Given the description of an element on the screen output the (x, y) to click on. 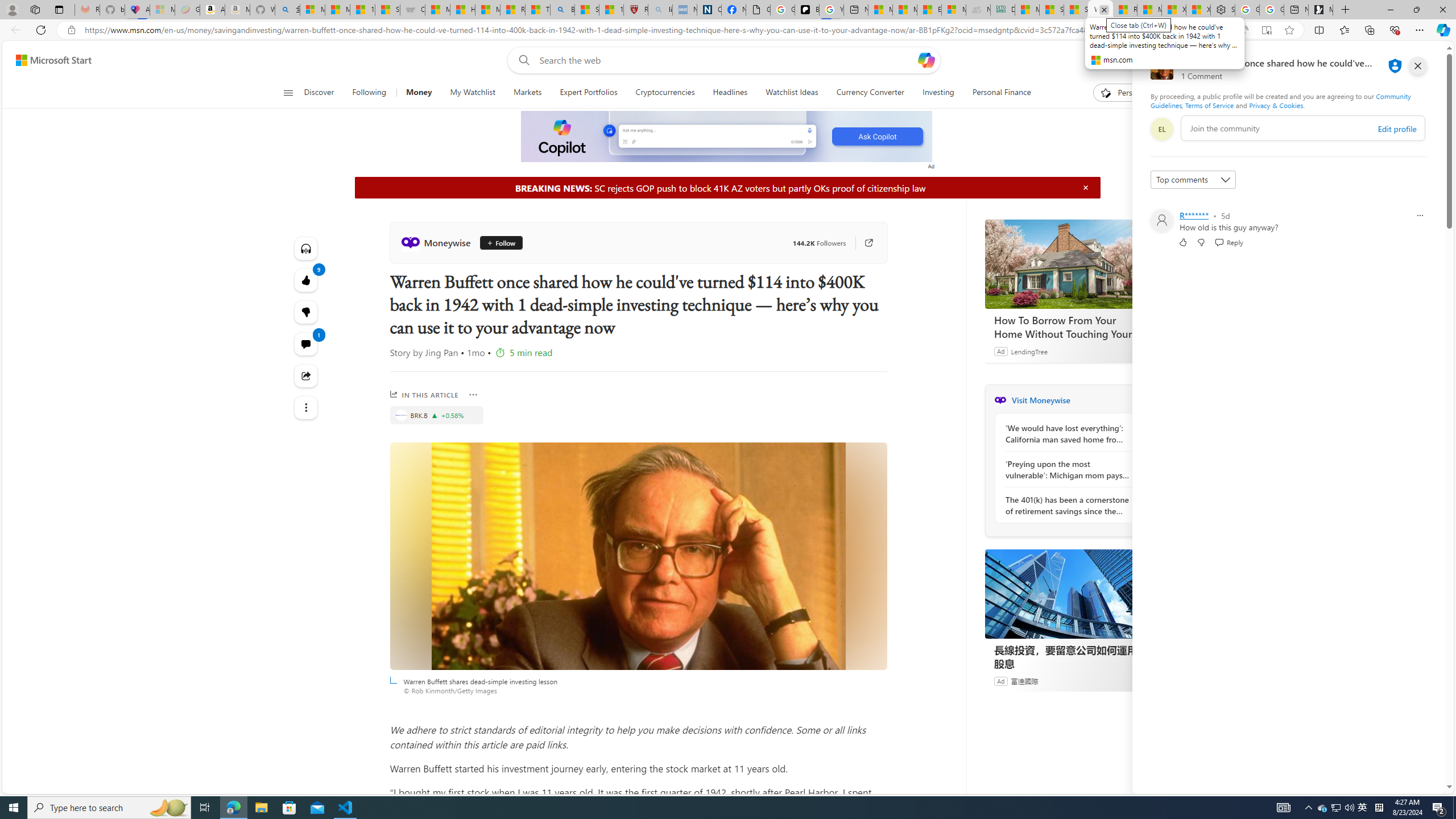
Currency Converter (869, 92)
Visit Moneywise website (1140, 399)
My Watchlist (472, 92)
R******* (1193, 215)
My Watchlist (472, 92)
